Given the description of an element on the screen output the (x, y) to click on. 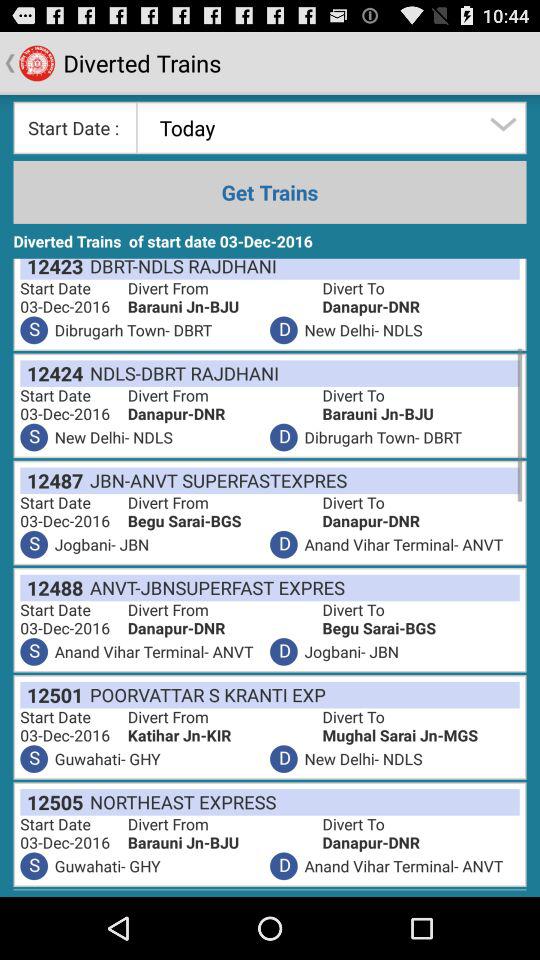
turn on northeast express item (179, 801)
